Given the description of an element on the screen output the (x, y) to click on. 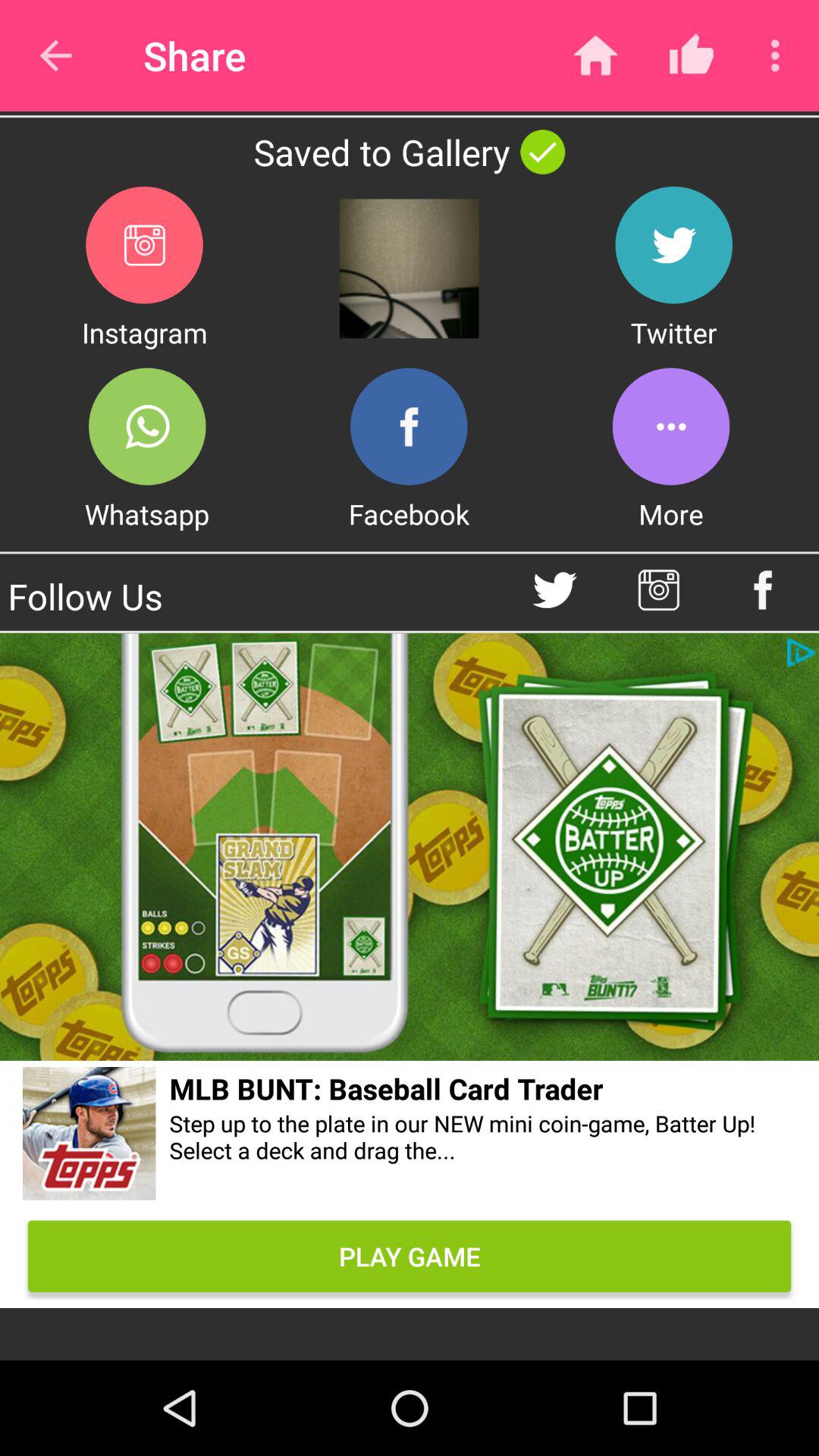
share the article to twitter (673, 244)
